Given the description of an element on the screen output the (x, y) to click on. 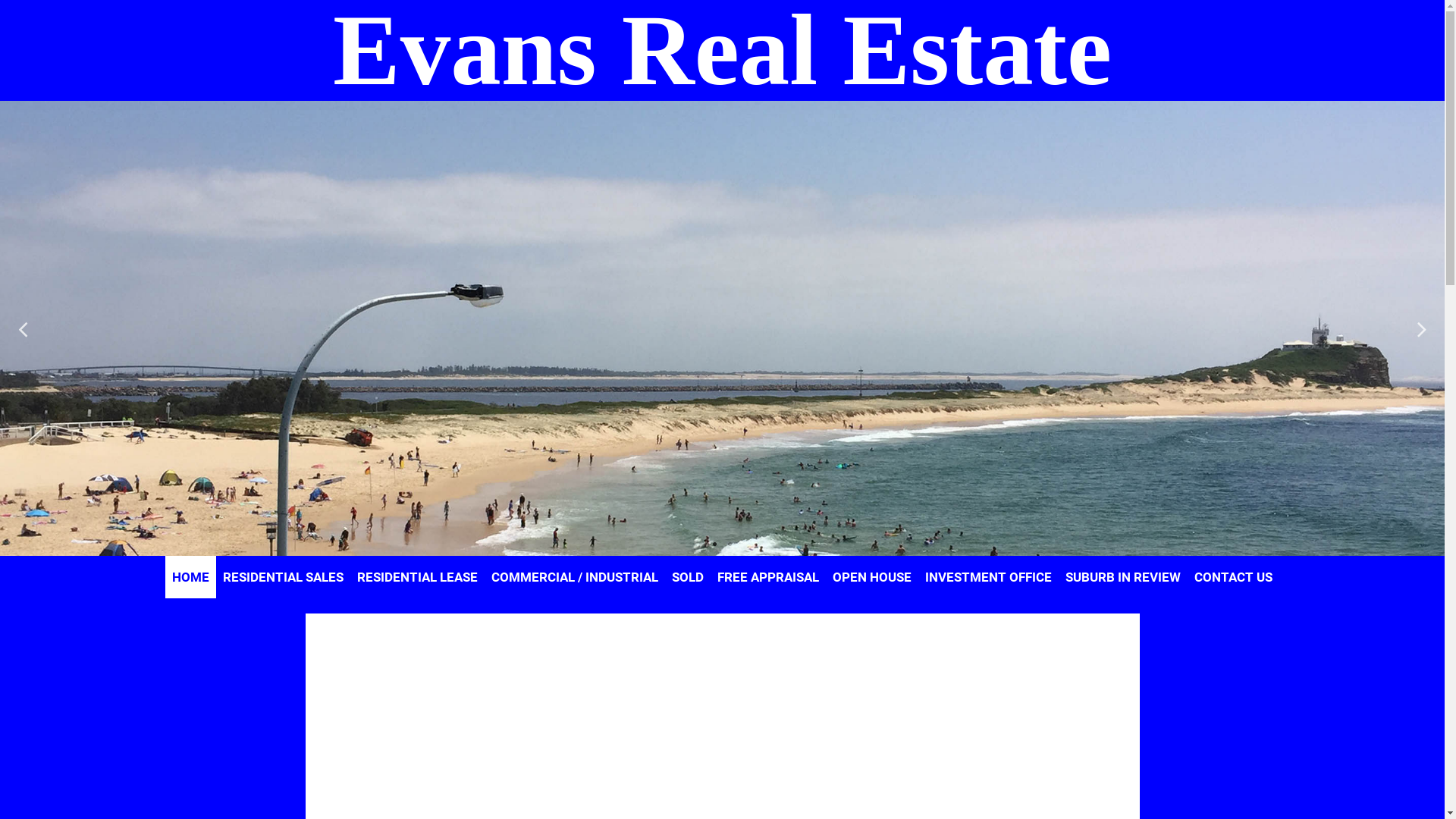
RESIDENTIAL SALES Element type: text (283, 576)
INVESTMENT OFFICE Element type: text (988, 576)
Previous Element type: text (22, 328)
SOLD Element type: text (687, 576)
OPEN HOUSE Element type: text (871, 576)
2 Element type: text (729, 544)
FREE APPRAISAL Element type: text (767, 576)
Next Element type: text (1421, 328)
COMMERCIAL / INDUSTRIAL Element type: text (574, 576)
CONTACT US Element type: text (1233, 576)
RESIDENTIAL LEASE Element type: text (417, 576)
HOME Element type: text (190, 576)
SUBURB IN REVIEW Element type: text (1122, 576)
1 Element type: text (713, 544)
